Given the description of an element on the screen output the (x, y) to click on. 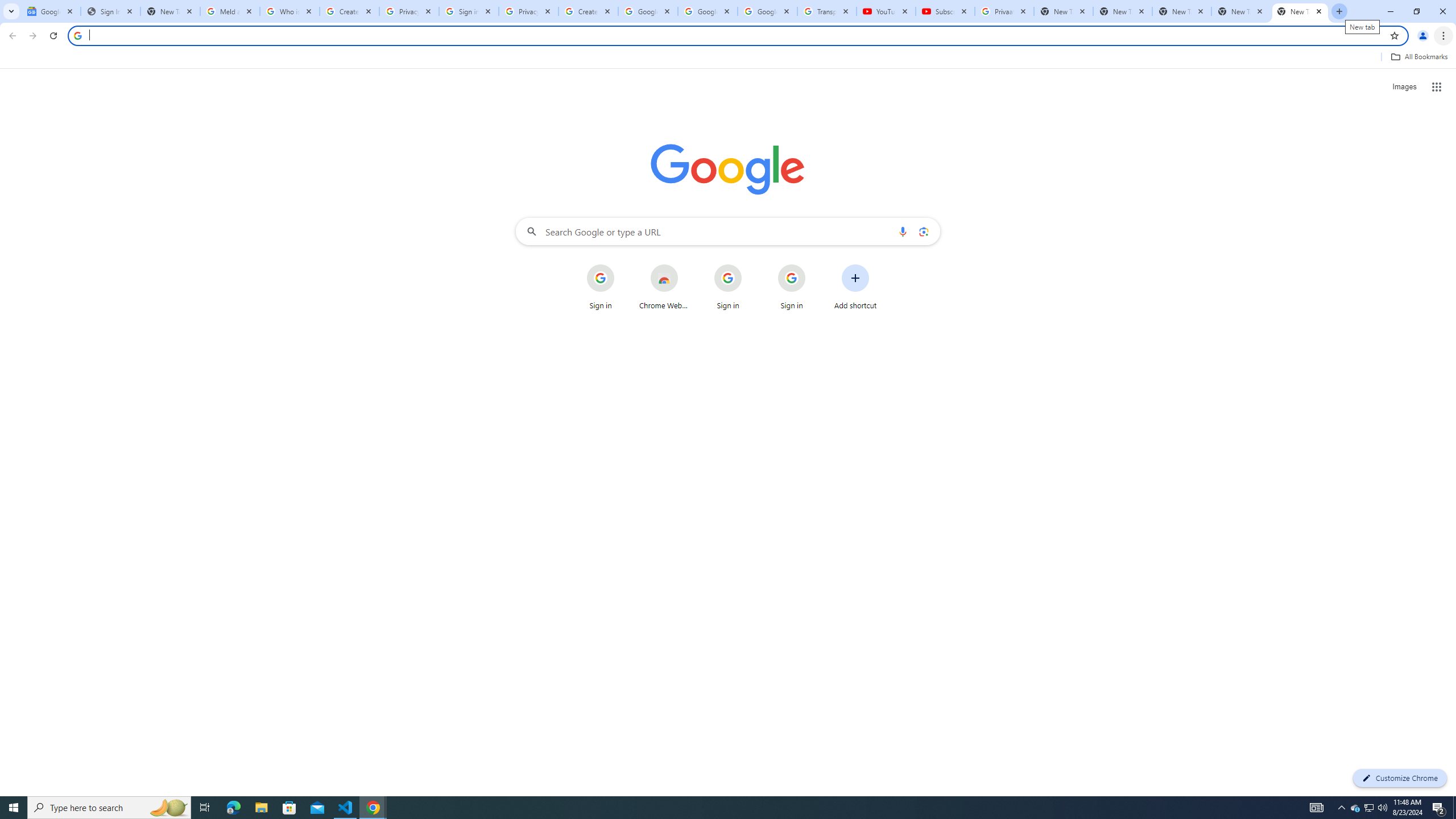
YouTube (885, 11)
More actions for Sign in shortcut (814, 265)
Subscriptions - YouTube (944, 11)
More actions for Chrome Web Store shortcut (686, 265)
Chrome Web Store (663, 287)
New Tab (1300, 11)
Who is my administrator? - Google Account Help (289, 11)
